Given the description of an element on the screen output the (x, y) to click on. 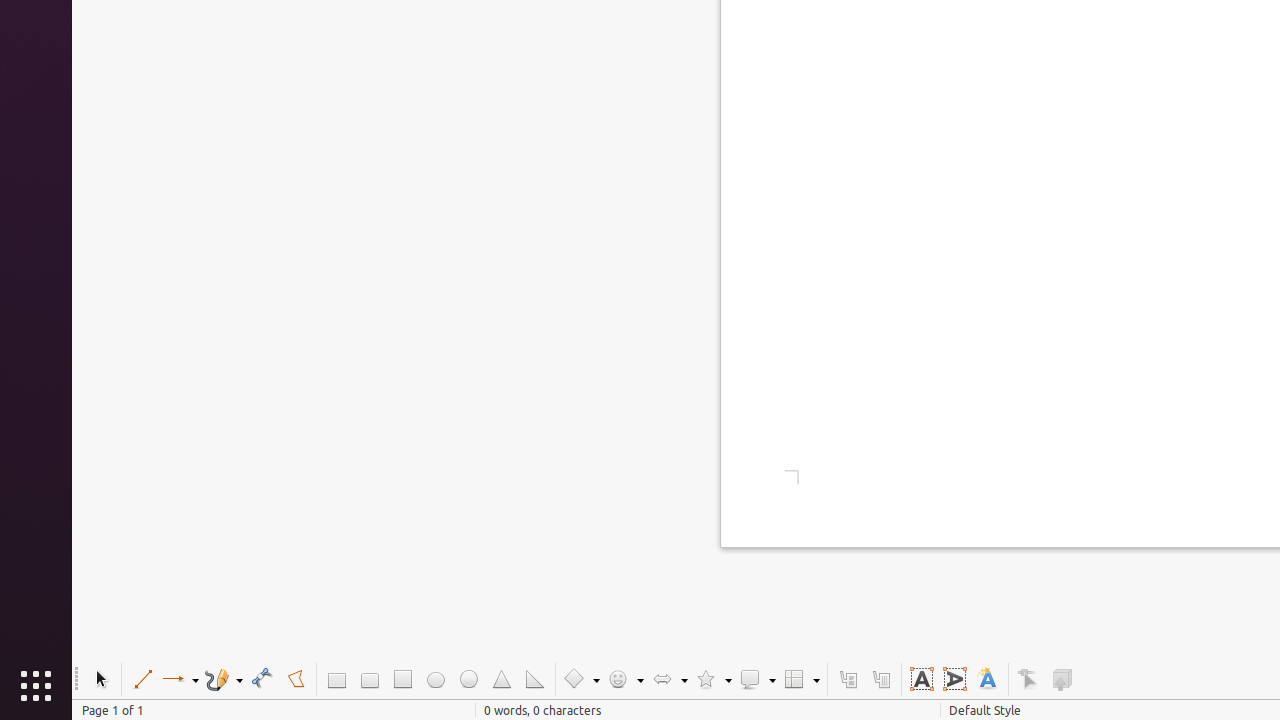
Select Element type: push-button (100, 679)
Square Element type: push-button (402, 679)
